Given the description of an element on the screen output the (x, y) to click on. 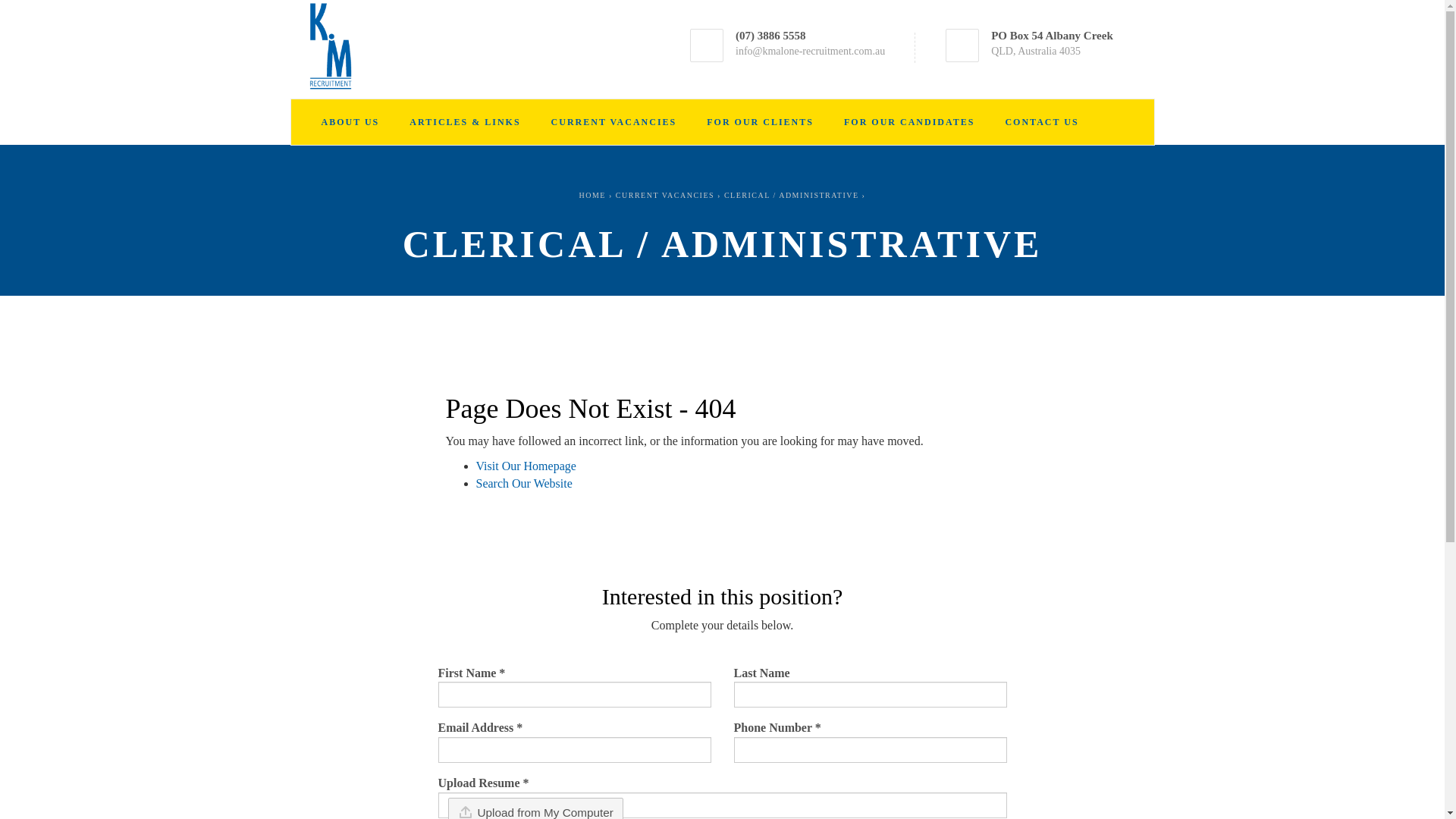
Visit Our Homepage Element type: text (526, 465)
HOME Element type: text (592, 195)
ABOUT US Element type: text (350, 121)
Search Our Website Element type: text (524, 482)
ARTICLES & LINKS Element type: text (464, 121)
CONTACT US Element type: text (1041, 121)
FOR OUR CLIENTS Element type: text (759, 121)
(07) 3886 5558 Element type: text (770, 35)
CURRENT VACANCIES Element type: text (614, 121)
CURRENT VACANCIES Element type: text (664, 195)
CLERICAL / ADMINISTRATIVE Element type: text (791, 195)
info@kmalone-recruitment.com.au Element type: text (809, 50)
FOR OUR CANDIDATES Element type: text (908, 121)
